Given the description of an element on the screen output the (x, y) to click on. 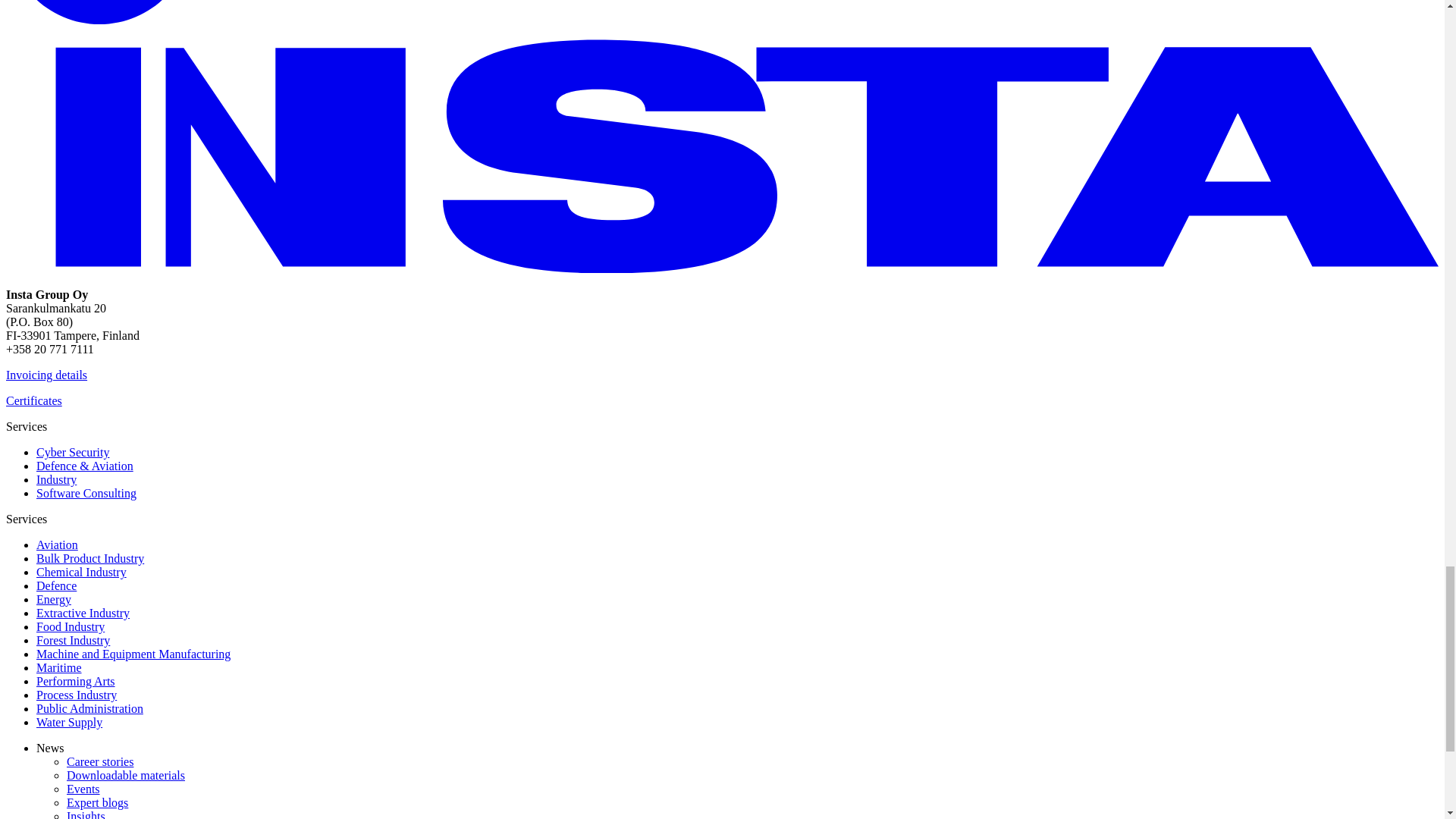
Invoicing details (46, 374)
